Given the description of an element on the screen output the (x, y) to click on. 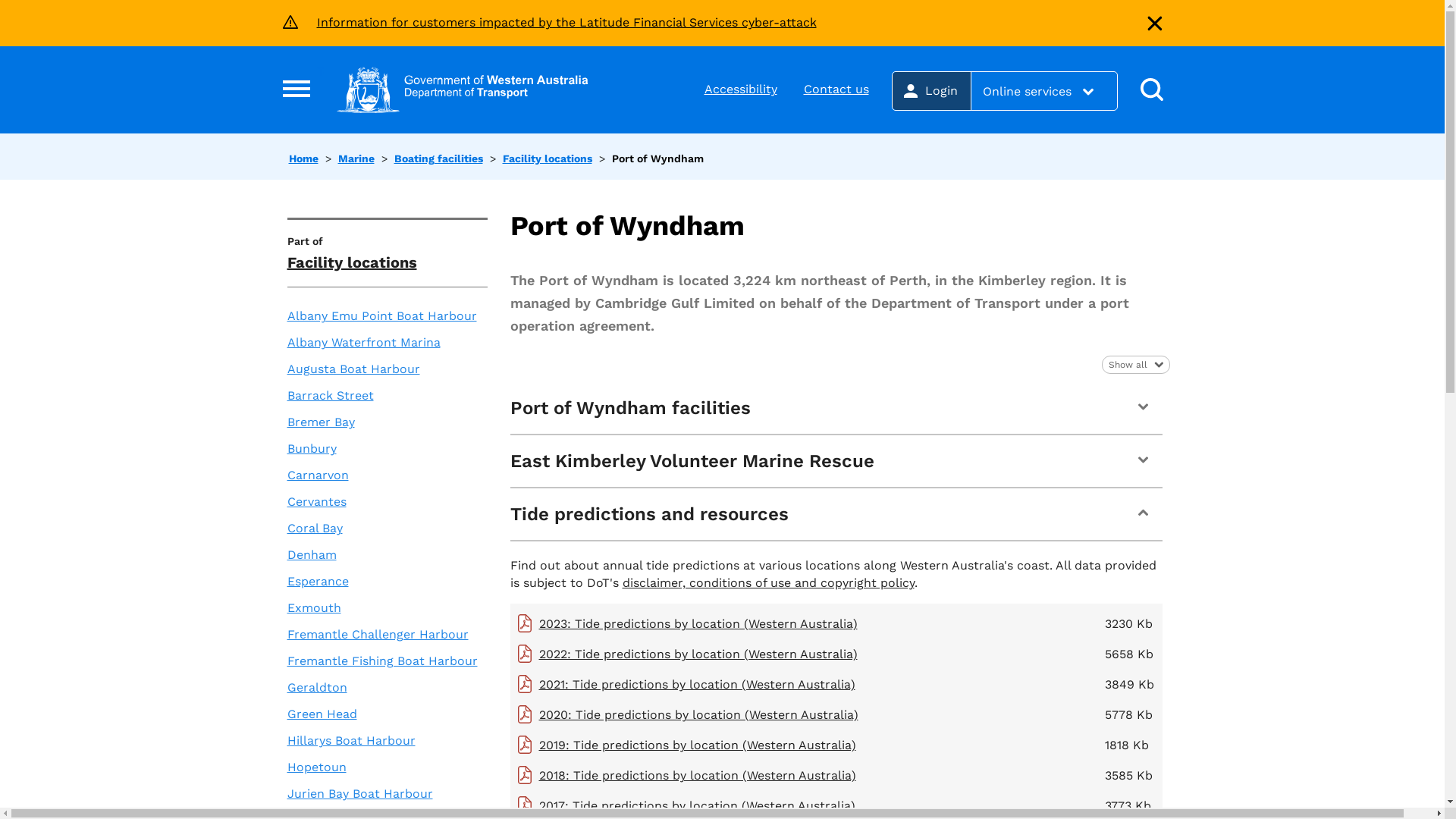
Barrack Street Element type: text (329, 395)
Show all Element type: text (1135, 364)
Bunbury Element type: text (310, 448)
Accessibility Element type: text (739, 88)
Facility locations Element type: text (351, 262)
Department of Transport Element type: hover (462, 89)
Facility locations Element type: text (546, 158)
Carnarvon Element type: text (317, 474)
Cervantes Element type: text (315, 501)
Open search menu Element type: hover (1150, 90)
2018: Tide predictions by location (Western Australia) Element type: text (696, 775)
Online services Element type: text (1043, 91)
Bremer Bay Element type: text (320, 421)
Fremantle Challenger Harbour Element type: text (376, 633)
2021: Tide predictions by location (Western Australia) Element type: text (696, 684)
disclaimer, conditions of use and copyright policy Element type: text (767, 582)
Albany Emu Point Boat Harbour Element type: text (381, 315)
Denham Element type: text (310, 554)
Exmouth Element type: text (313, 607)
Esperance Element type: text (317, 580)
Coral Bay Element type: text (314, 527)
Home Element type: text (302, 158)
2017: Tide predictions by location (Western Australia) Element type: text (696, 805)
Green Head Element type: text (321, 713)
Fremantle Fishing Boat Harbour Element type: text (381, 660)
Hopetoun Element type: text (315, 766)
Geraldton Element type: text (316, 686)
Augusta Boat Harbour Element type: text (352, 368)
Albany Waterfront Marina Element type: text (362, 341)
Contact us Element type: text (836, 88)
2020: Tide predictions by location (Western Australia) Element type: text (697, 714)
Jurien Bay Boat Harbour Element type: text (359, 793)
2023: Tide predictions by location (Western Australia) Element type: text (697, 623)
Marine Element type: text (356, 158)
2019: Tide predictions by location (Western Australia) Element type: text (696, 744)
Boating facilities Element type: text (438, 158)
Hillarys Boat Harbour Element type: text (350, 740)
2022: Tide predictions by location (Western Australia) Element type: text (697, 653)
